Given the description of an element on the screen output the (x, y) to click on. 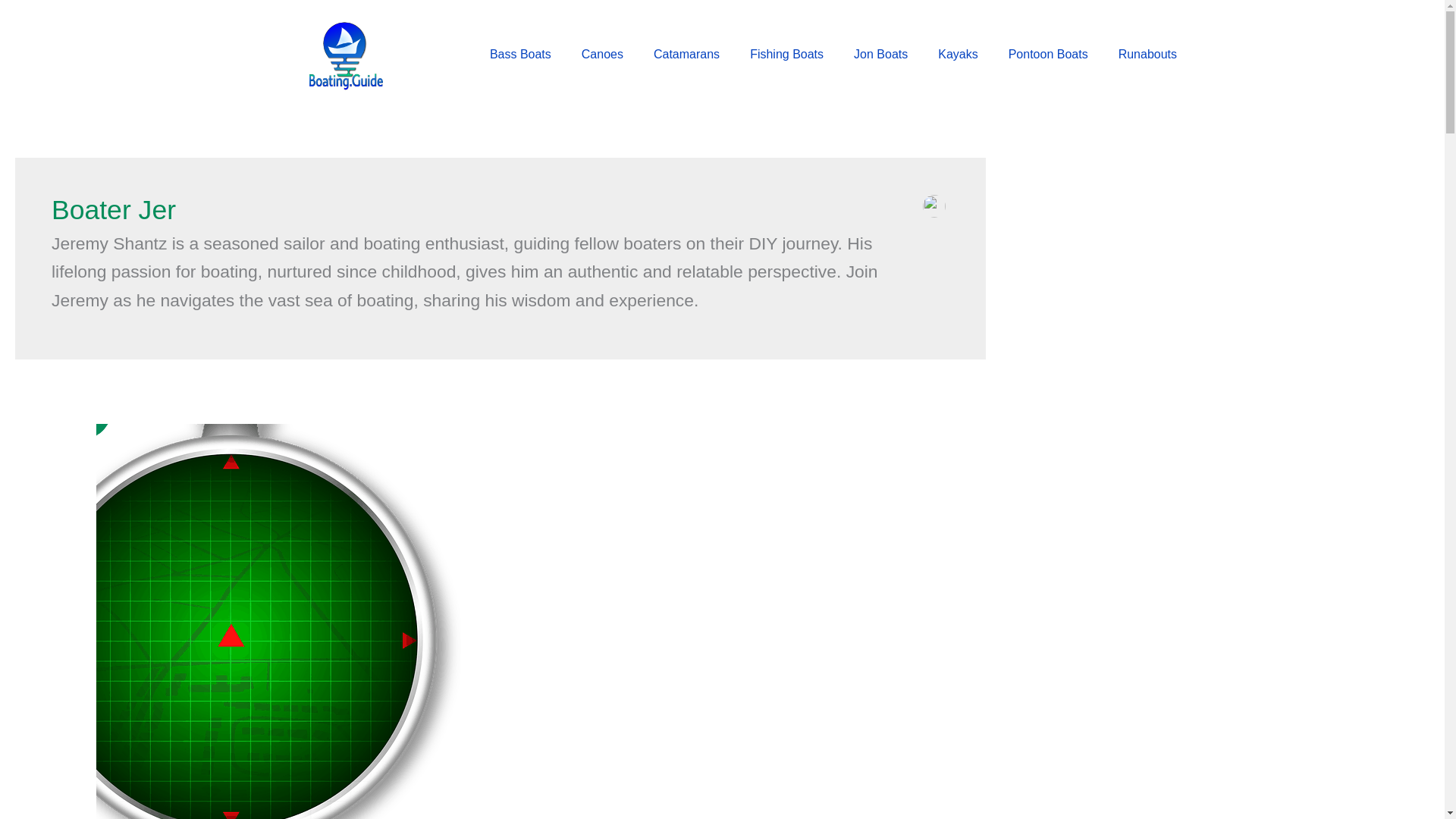
Runabouts (1147, 54)
Canoes (602, 54)
Pontoon Boats (1047, 54)
Bass Boats (520, 54)
Kayaks (957, 54)
Jon Boats (880, 54)
Catamarans (687, 54)
Fishing Boats (786, 54)
